Given the description of an element on the screen output the (x, y) to click on. 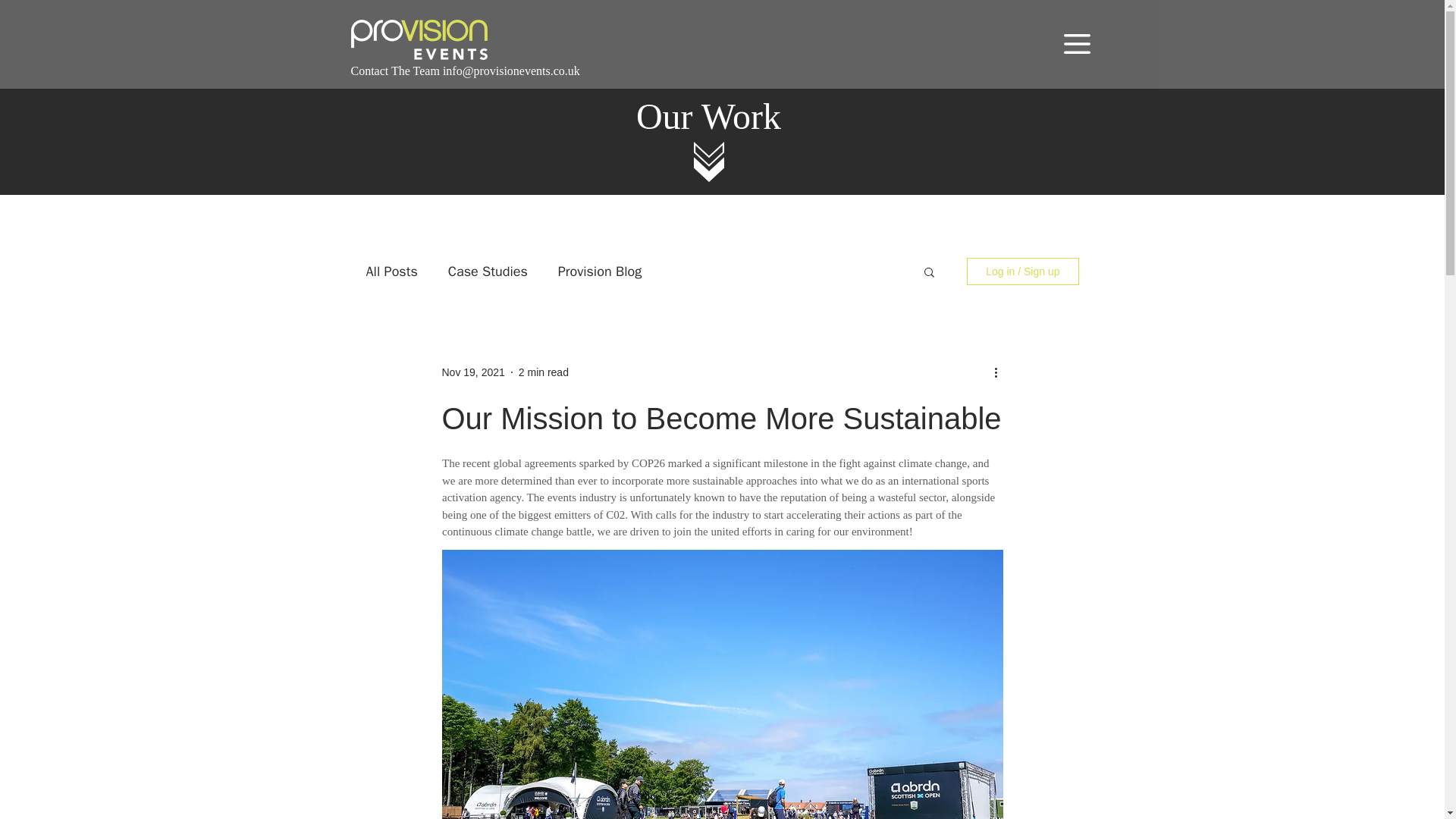
Provision Blog (599, 271)
Case Studies (487, 271)
All Posts (390, 271)
2 min read (543, 371)
Nov 19, 2021 (472, 371)
